Given the description of an element on the screen output the (x, y) to click on. 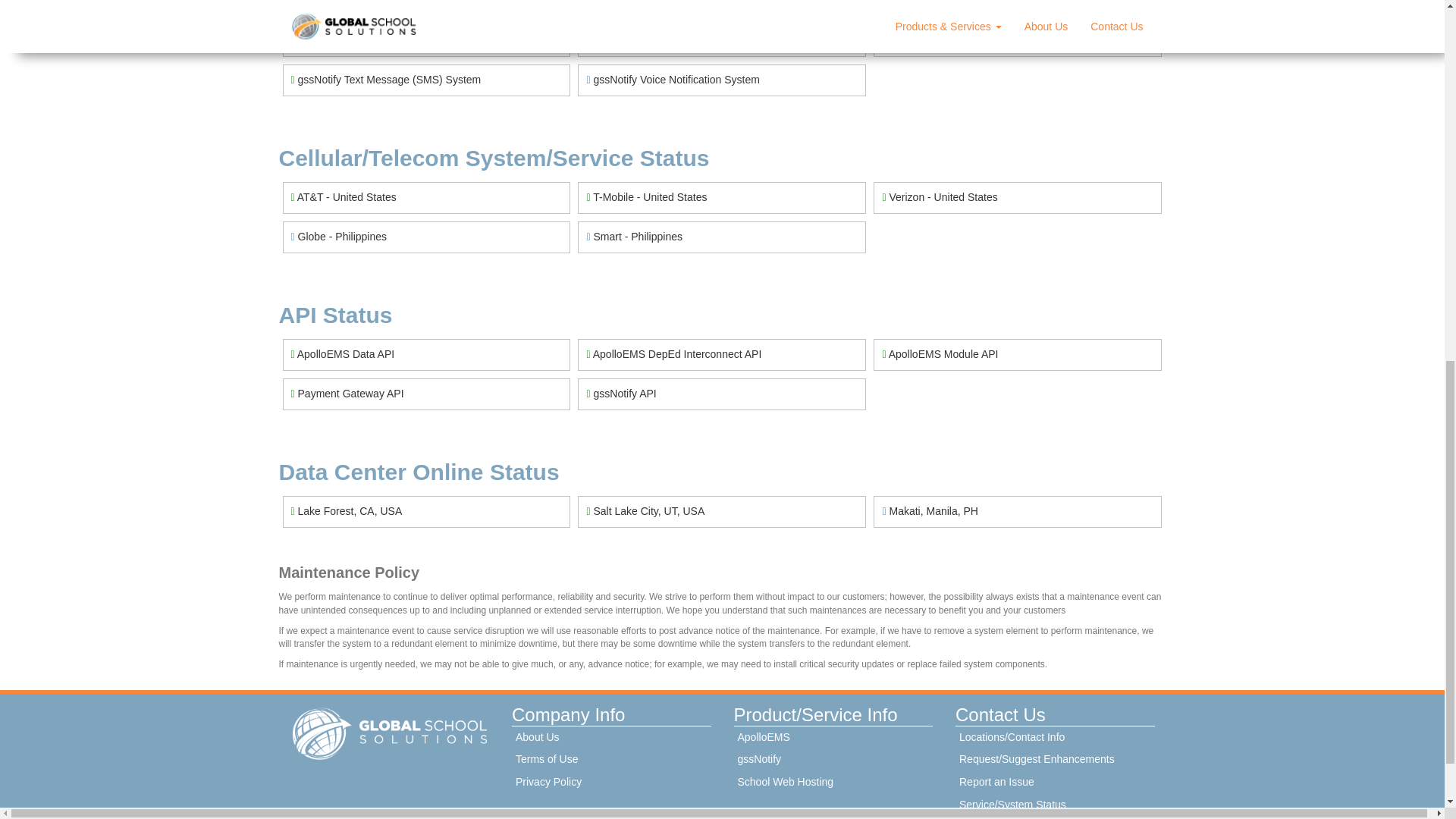
ApolloEMS (833, 737)
About Us (611, 737)
Report an Issue (1054, 782)
Terms of Use (611, 759)
gssNotify (833, 759)
Privacy Policy (611, 782)
School Web Hosting (833, 782)
